Given the description of an element on the screen output the (x, y) to click on. 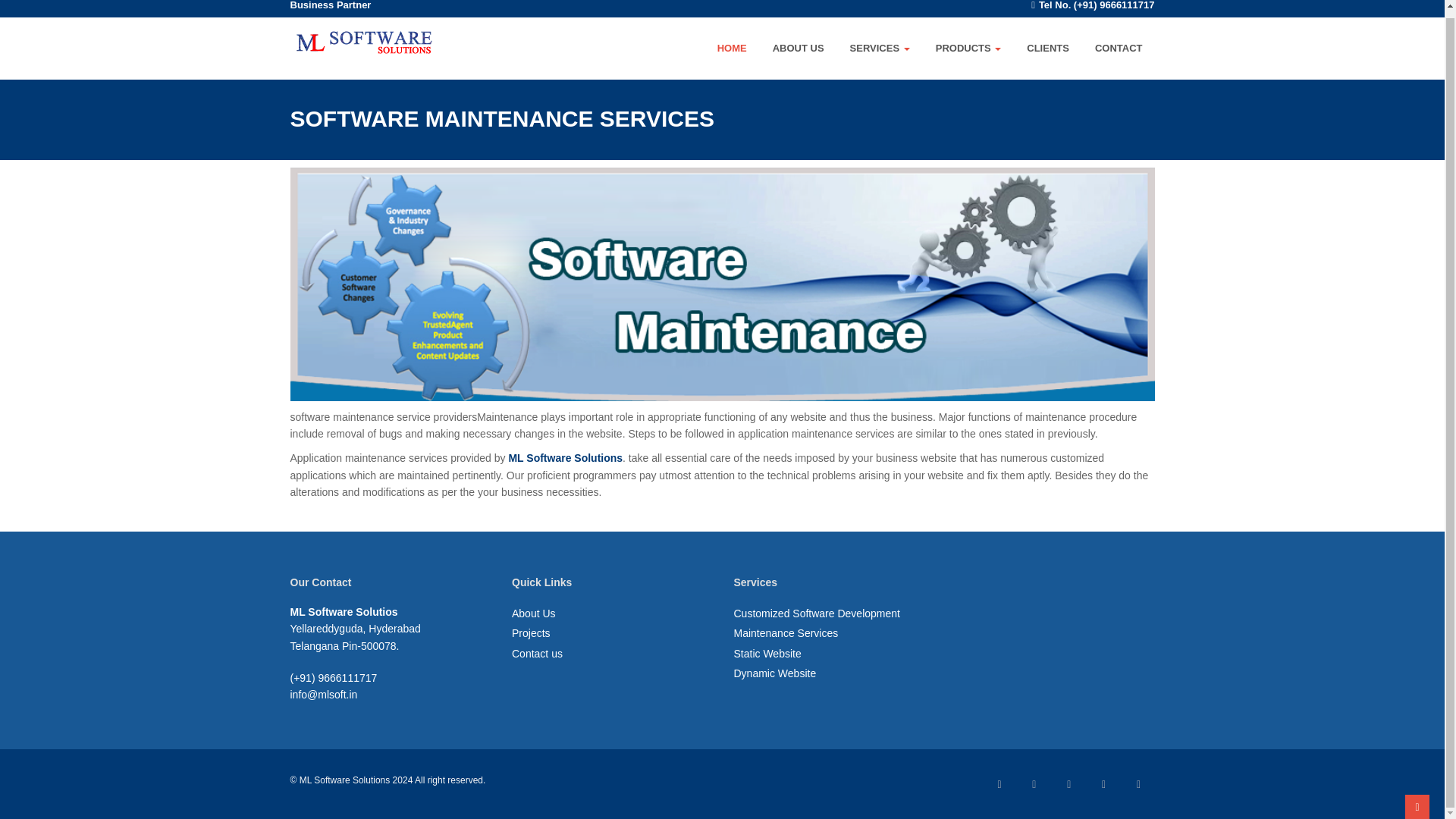
About Us (534, 613)
Static Website (767, 653)
Maintenance Services (785, 633)
Customized Software Development (816, 613)
Projects (531, 633)
CONTACT (1118, 48)
Contact us (537, 653)
PRODUCTS (968, 48)
CLIENTS (1047, 48)
SERVICES (879, 48)
